Given the description of an element on the screen output the (x, y) to click on. 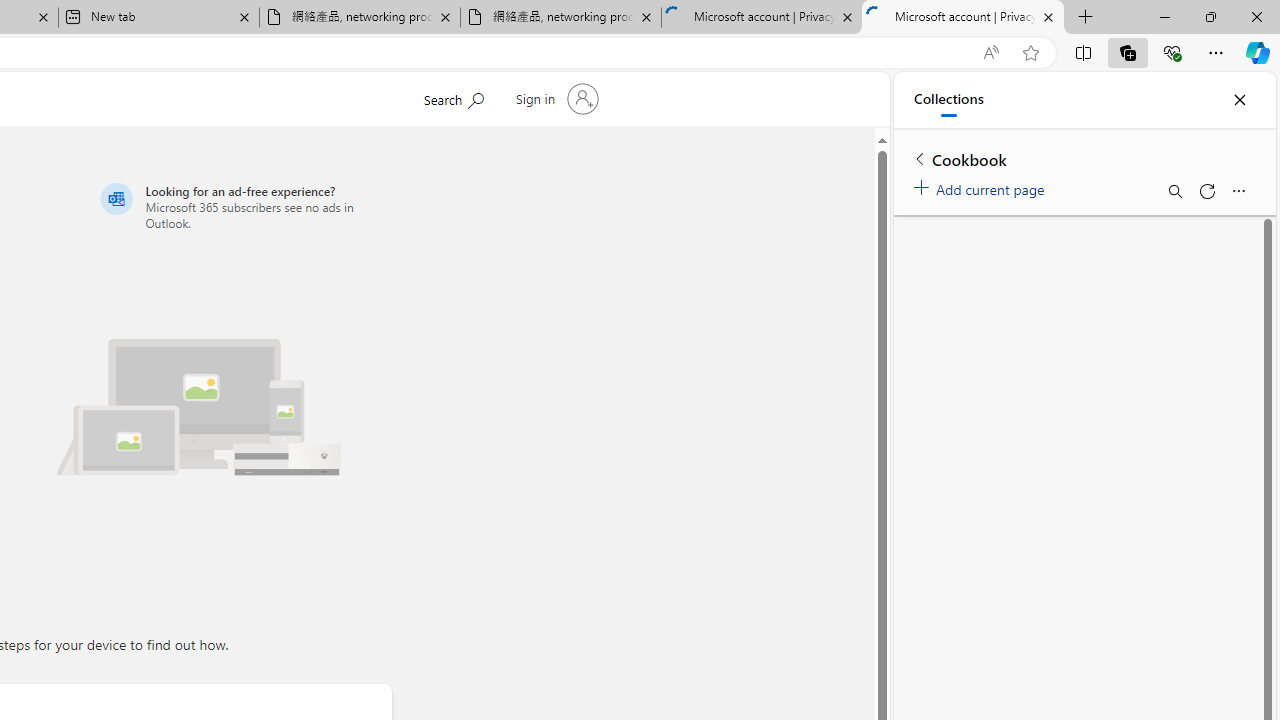
Search Microsoft.com (491, 97)
